Given the description of an element on the screen output the (x, y) to click on. 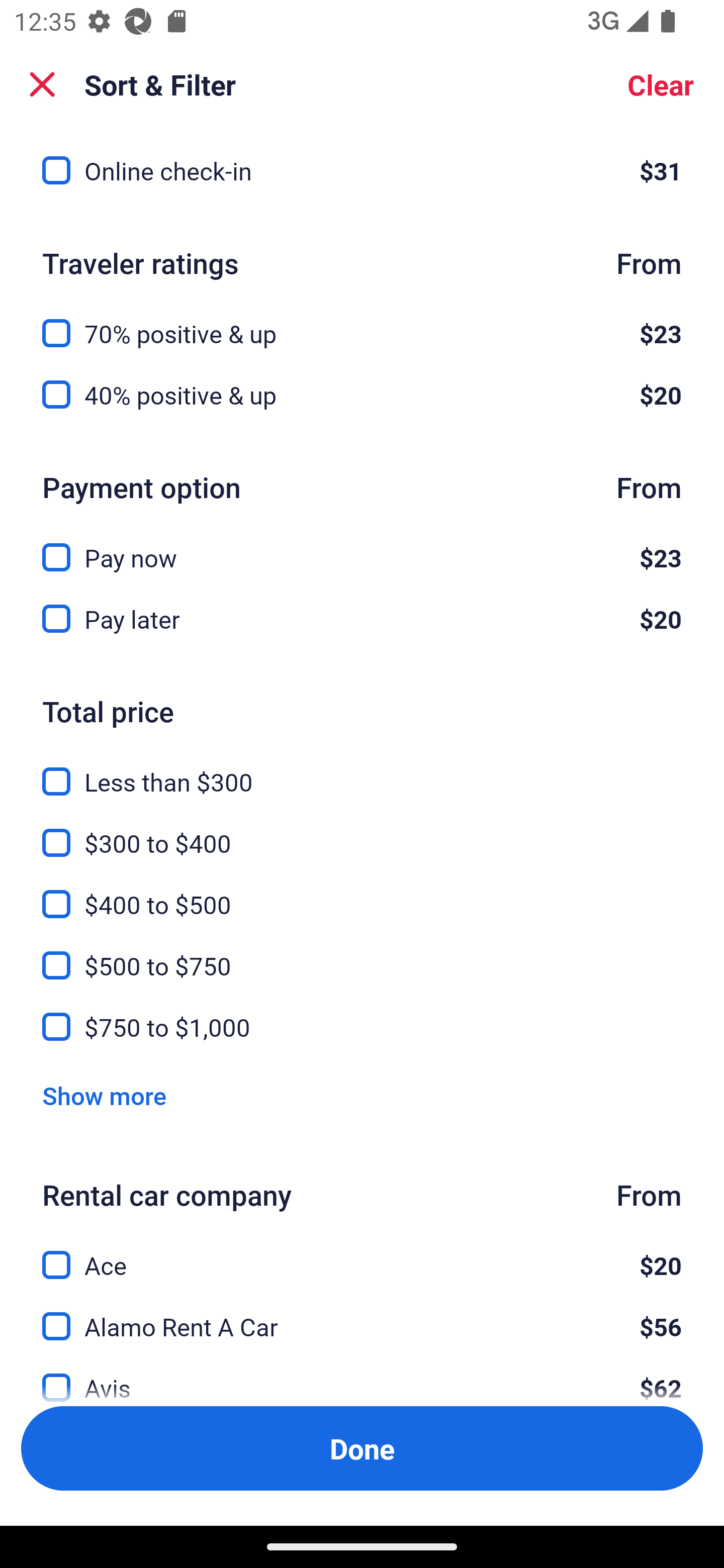
Close Sort and Filter (42, 84)
Clear (660, 84)
Online check-in, $31 Online check-in $31 (361, 170)
70% positive & up, $23 70% positive & up $23 (361, 321)
40% positive & up, $20 40% positive & up $20 (361, 394)
Pay now, $23 Pay now $23 (361, 546)
Pay later, $20 Pay later $20 (361, 619)
Less than $300, Less than $300 (361, 770)
$300 to $400, $300 to $400 (361, 831)
$400 to $500, $400 to $500 (361, 892)
$500 to $750, $500 to $750 (361, 953)
$750 to $1,000, $750 to $1,000 (361, 1026)
Show more Show more Link (103, 1095)
Ace, $20 Ace $20 (361, 1253)
Alamo Rent A Car, $56 Alamo Rent A Car $56 (361, 1314)
Avis, $62 Avis $62 (361, 1375)
Apply and close Sort and Filter Done (361, 1448)
